Given the description of an element on the screen output the (x, y) to click on. 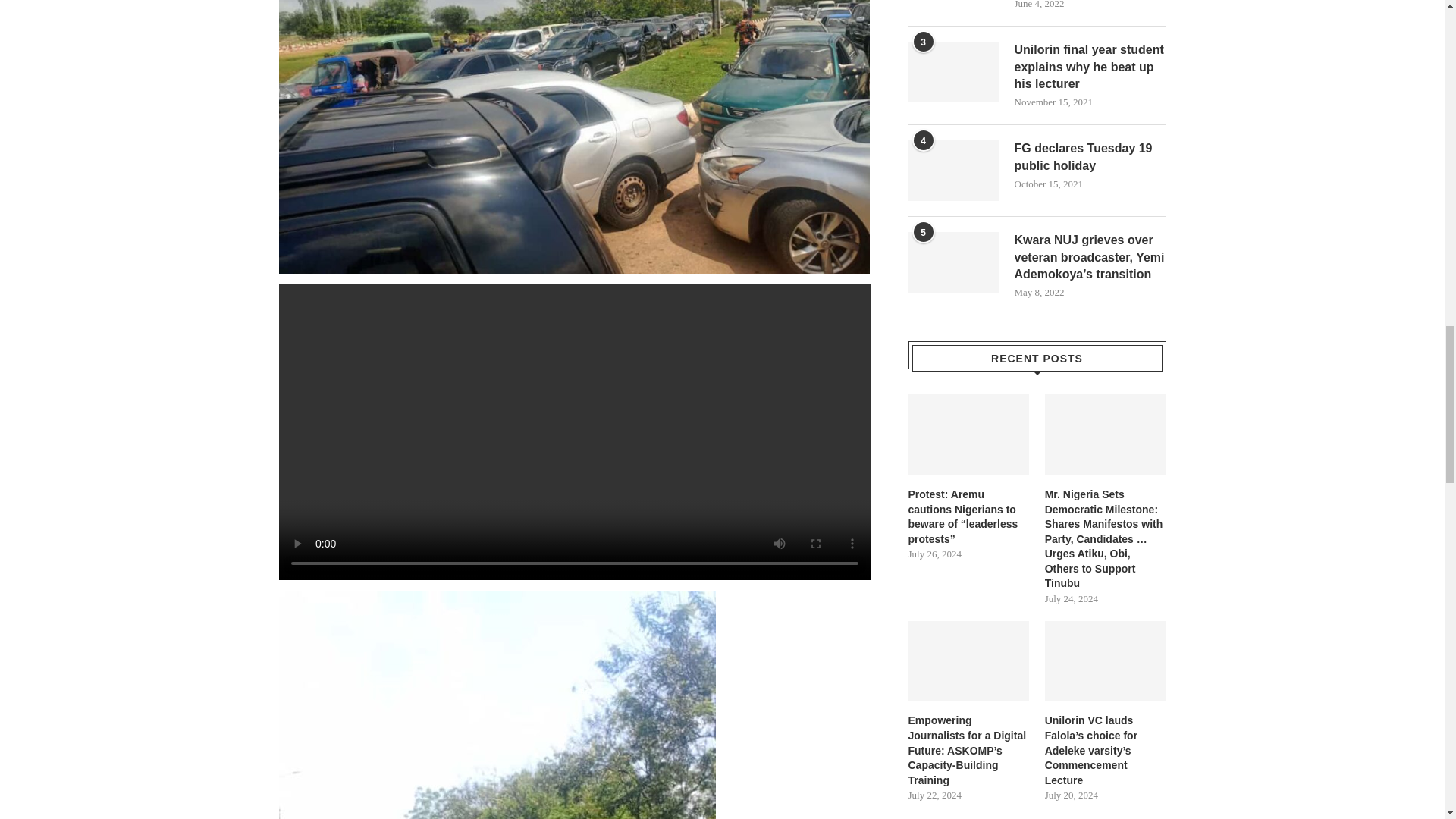
FG declares Tuesday 19 public holiday (953, 170)
FG declares Tuesday 19 public holiday (1090, 157)
